Given the description of an element on the screen output the (x, y) to click on. 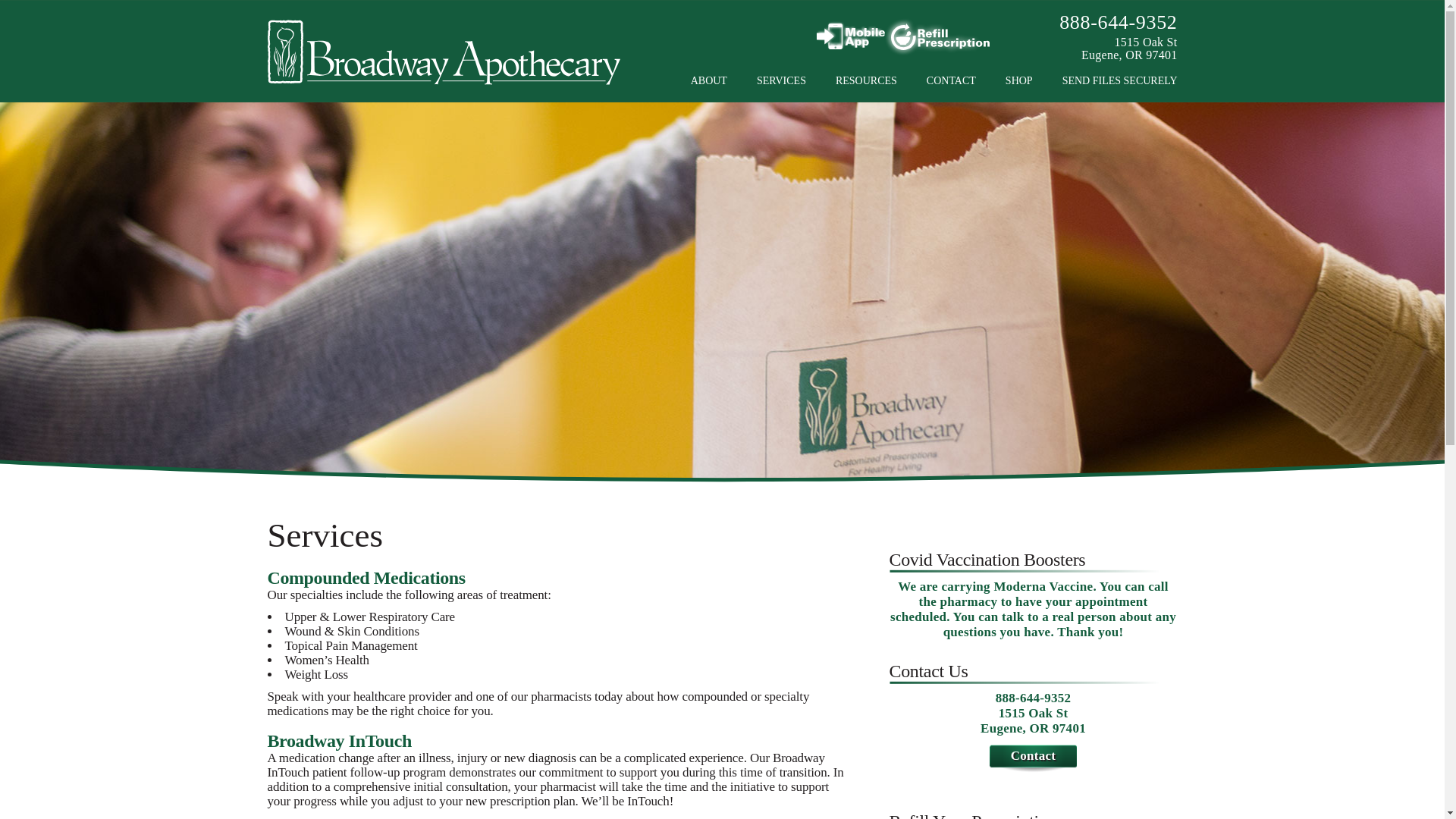
ABOUT (714, 80)
SERVICES (780, 80)
SHOP (1018, 80)
SEND FILES SECURELY (1114, 80)
RESOURCES (866, 80)
CONTACT (951, 80)
888-644-9352 (1117, 22)
888-644-9352 (1033, 698)
